Given the description of an element on the screen output the (x, y) to click on. 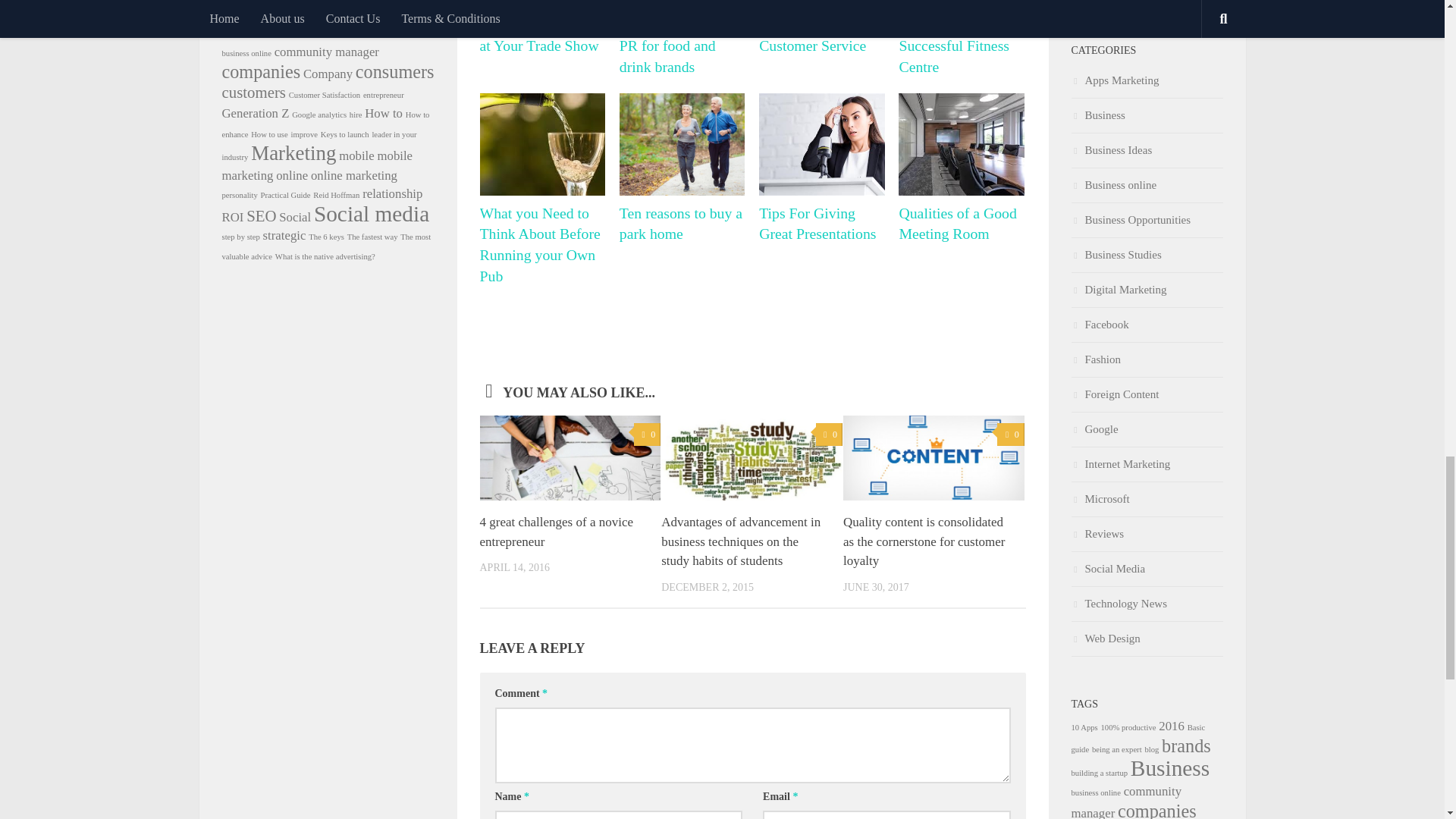
Tips for Planning Interactive Activities at Your Trade Show (542, 28)
How a Pager System Improves Restaurant Customer Service (821, 28)
Proven Tactics for Running a Successful Fitness Centre (961, 38)
